Given the description of an element on the screen output the (x, y) to click on. 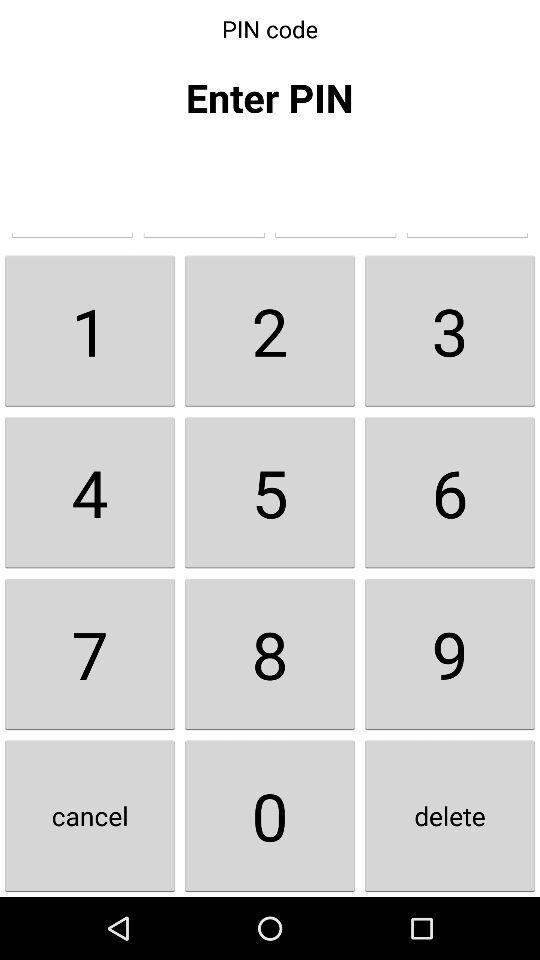
choose icon below 1 icon (90, 492)
